Given the description of an element on the screen output the (x, y) to click on. 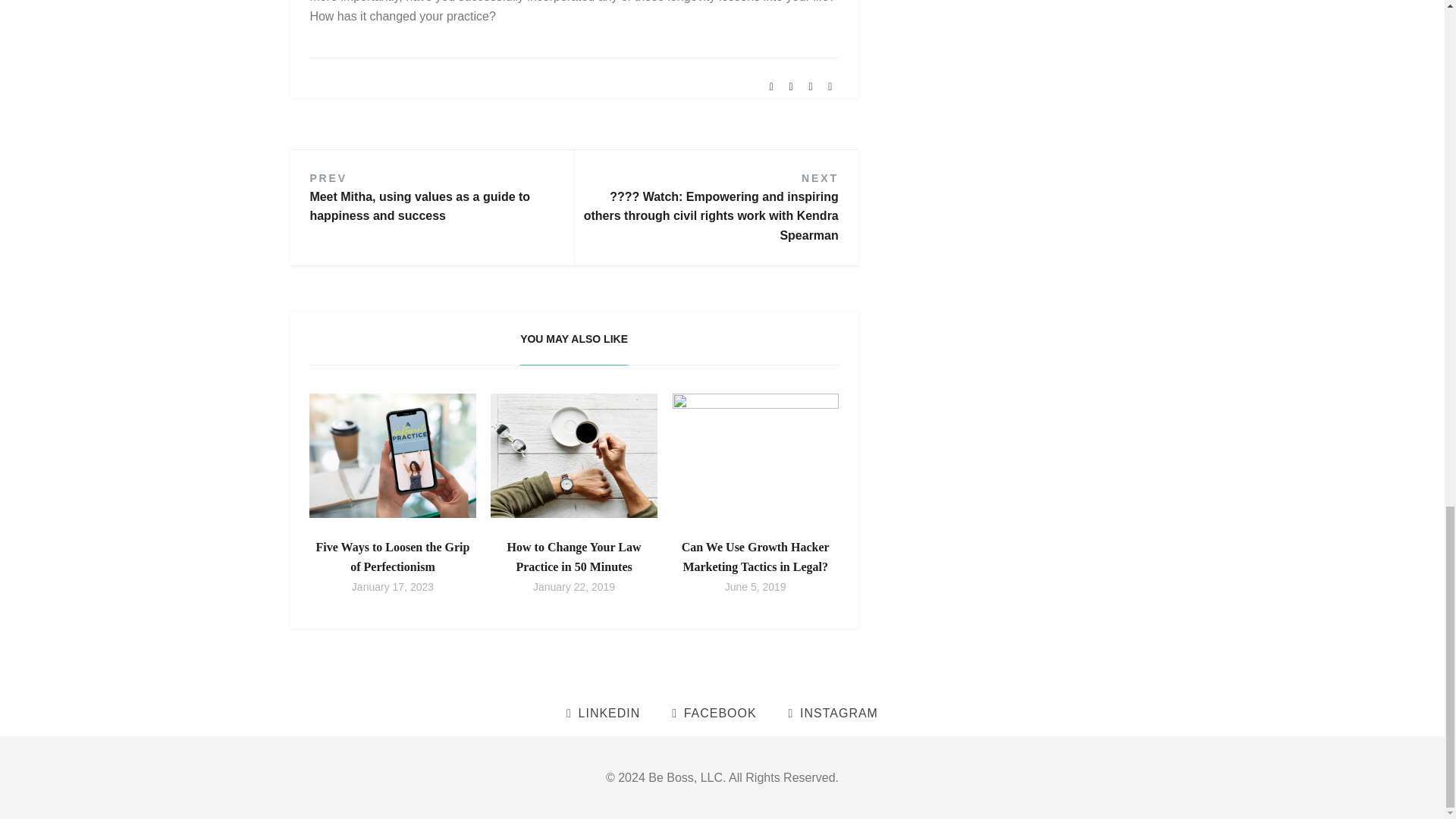
How to Change Your Law Practice in 50 Minutes (574, 556)
Five Ways to Loosen the Grip of Perfectionism (392, 556)
Can We Use Growth Hacker Marketing Tactics in Legal? (755, 556)
